Given the description of an element on the screen output the (x, y) to click on. 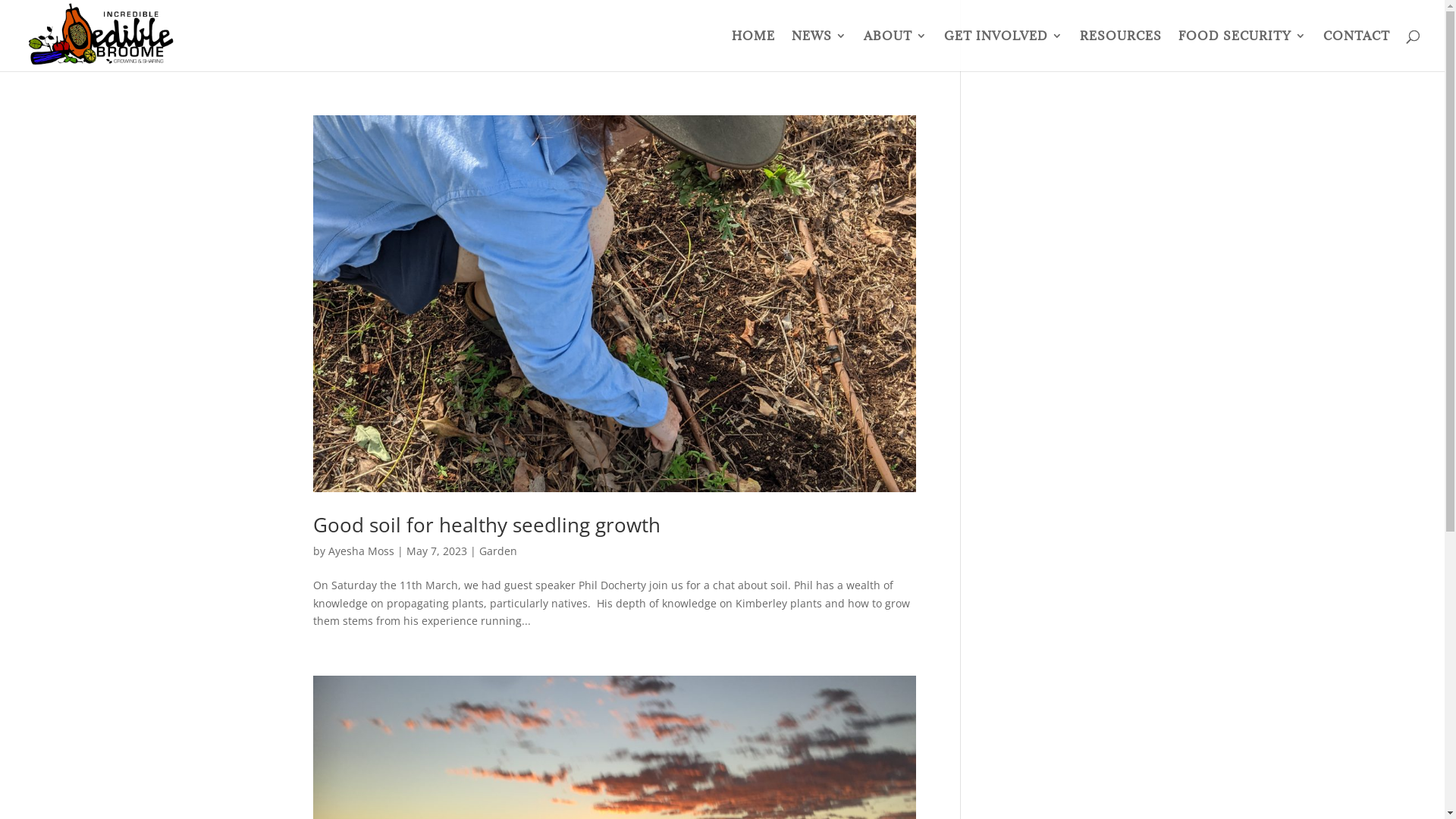
Good soil for healthy seedling growth Element type: text (485, 524)
Ayesha Moss Element type: text (360, 550)
NEWS Element type: text (819, 50)
CONTACT Element type: text (1356, 50)
ABOUT Element type: text (895, 50)
Garden Element type: text (498, 550)
GET INVOLVED Element type: text (1003, 50)
HOME Element type: text (753, 50)
FOOD SECURITY Element type: text (1242, 50)
RESOURCES Element type: text (1120, 50)
